Given the description of an element on the screen output the (x, y) to click on. 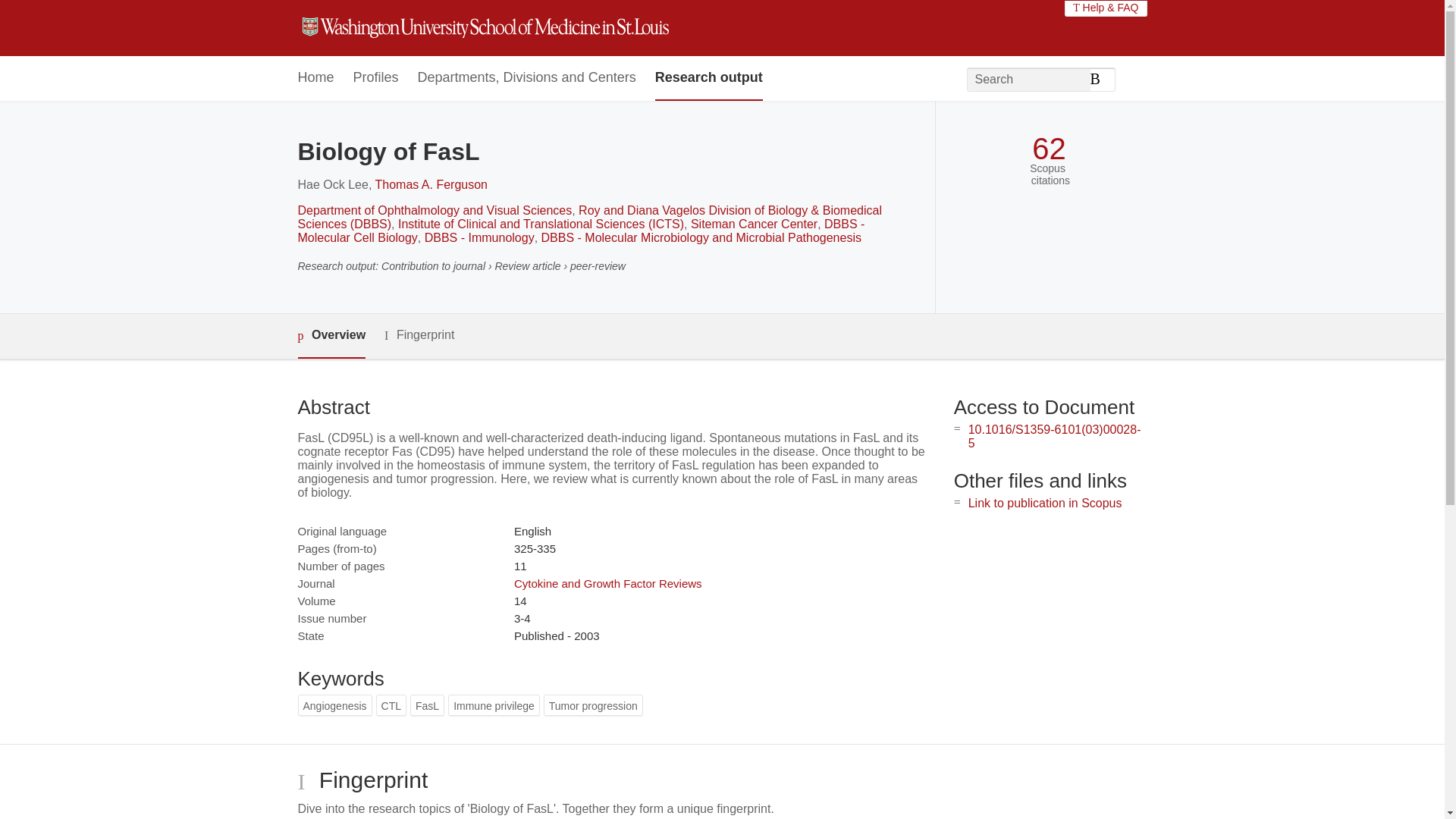
DBBS - Molecular Cell Biology (580, 230)
Profiles (375, 78)
Link to publication in Scopus (1045, 502)
Research output (708, 78)
Department of Ophthalmology and Visual Sciences (434, 210)
Fingerprint (419, 335)
DBBS - Molecular Microbiology and Microbial Pathogenesis (701, 237)
Siteman Cancer Center (753, 223)
Overview (331, 335)
Thomas A. Ferguson (430, 184)
DBBS - Immunology (479, 237)
Cytokine and Growth Factor Reviews (607, 583)
Departments, Divisions and Centers (526, 78)
